Given the description of an element on the screen output the (x, y) to click on. 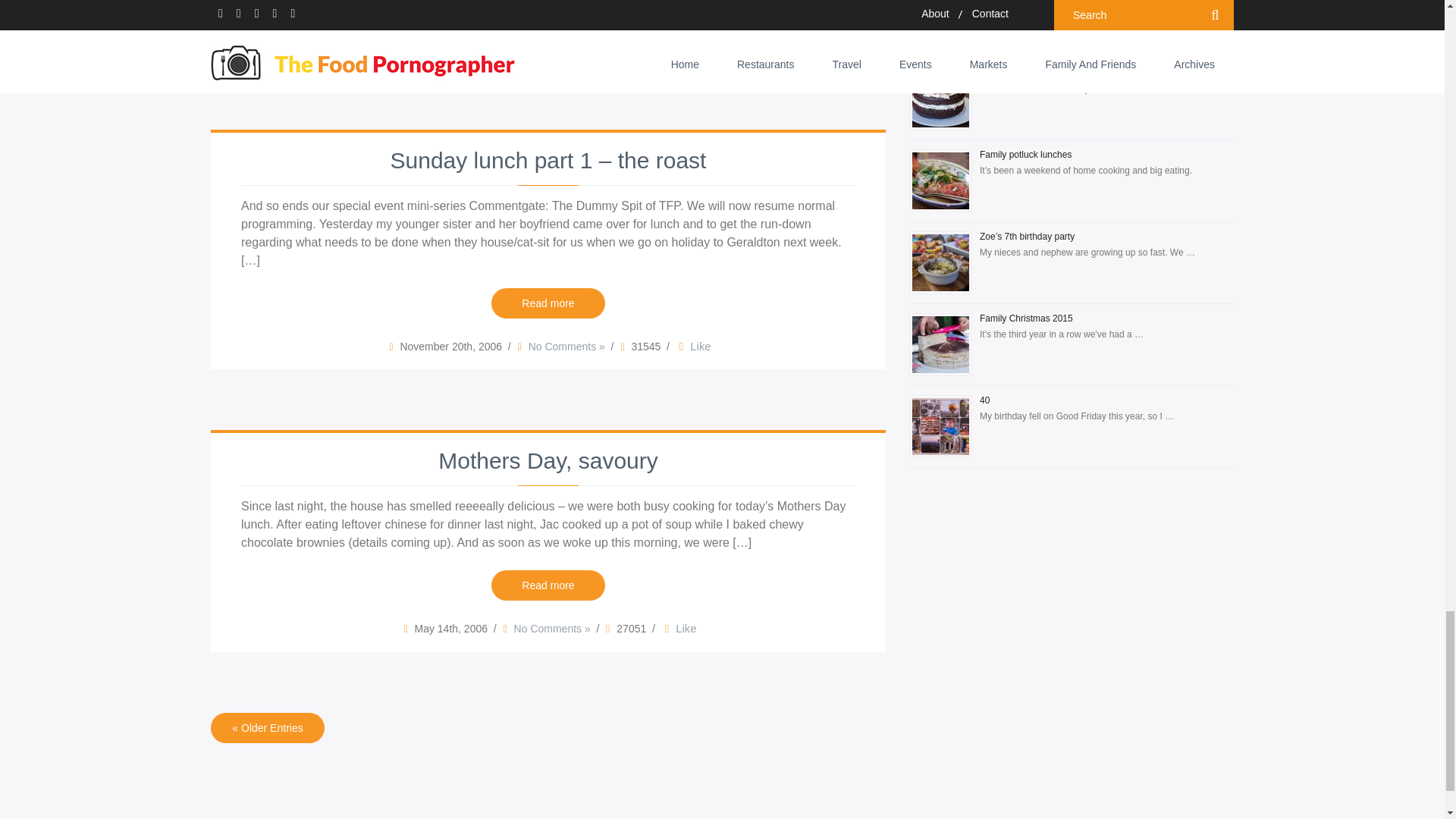
Like (693, 46)
